Given the description of an element on the screen output the (x, y) to click on. 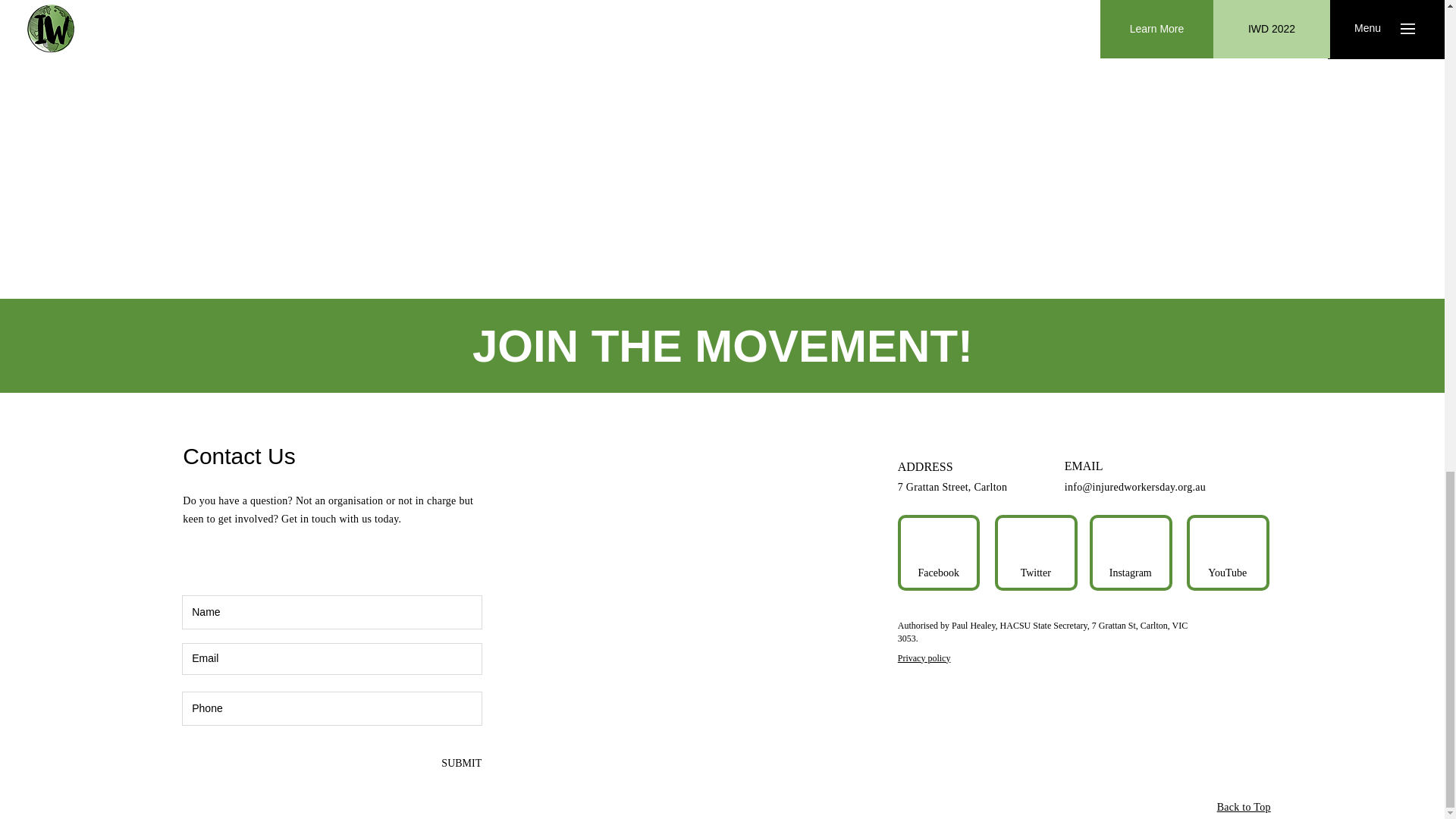
Instagram (1130, 572)
SUBMIT (460, 763)
Back to Top (1244, 807)
Facebook (938, 572)
YouTube (1227, 572)
Twitter (1035, 572)
